Given the description of an element on the screen output the (x, y) to click on. 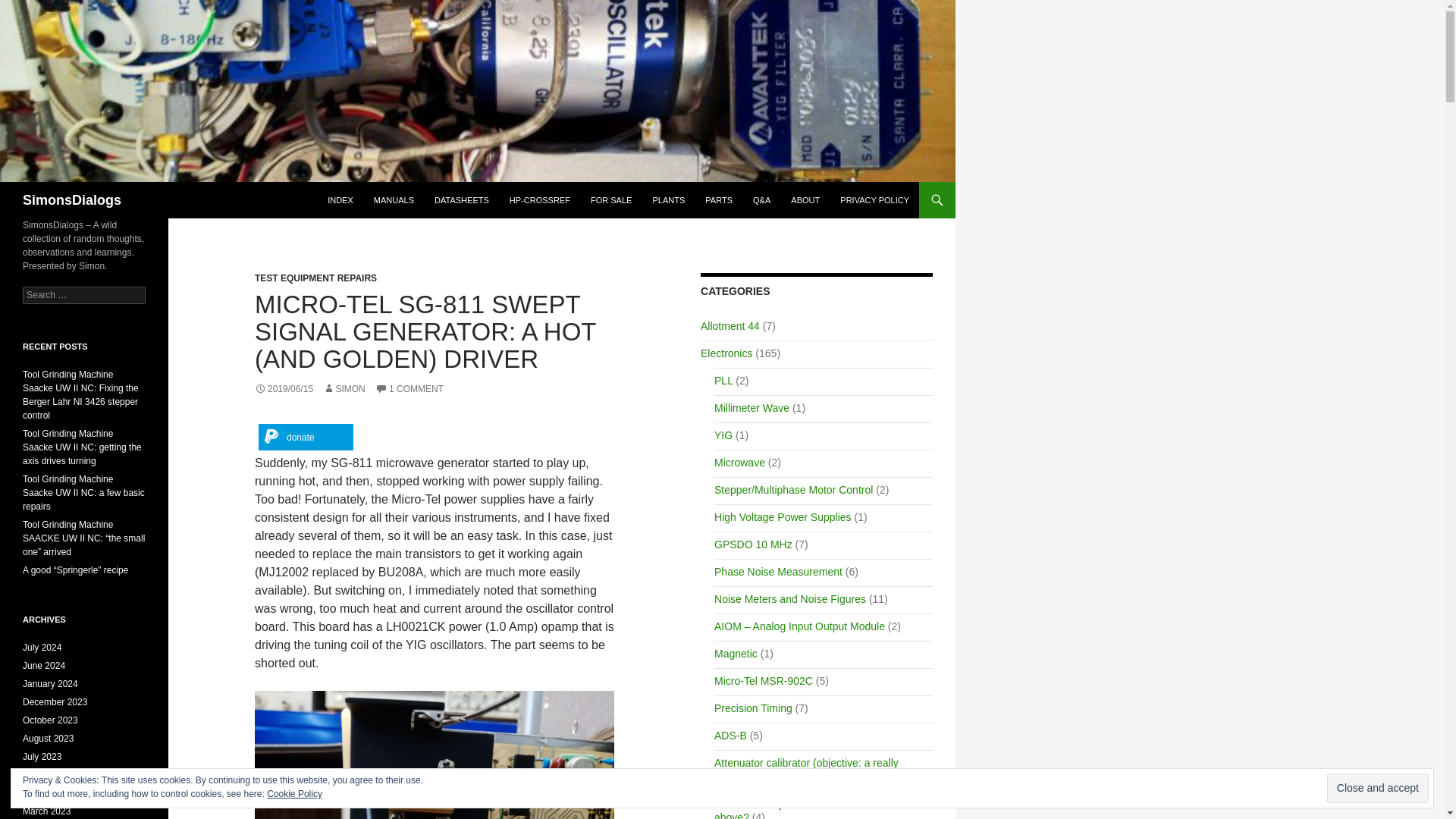
PLANTS (668, 199)
TEST EQUIPMENT REPAIRS (315, 277)
donate  (306, 437)
PARTS (718, 199)
PRIVACY POLICY (874, 199)
ABOUT (804, 199)
SimonsDialogs (71, 199)
FOR SALE (610, 199)
DATASHEETS (461, 199)
INDEX (340, 199)
SIMON (344, 388)
Close and accept (1377, 788)
HP-CROSSREF (539, 199)
Donate with PayPal (306, 437)
